Given the description of an element on the screen output the (x, y) to click on. 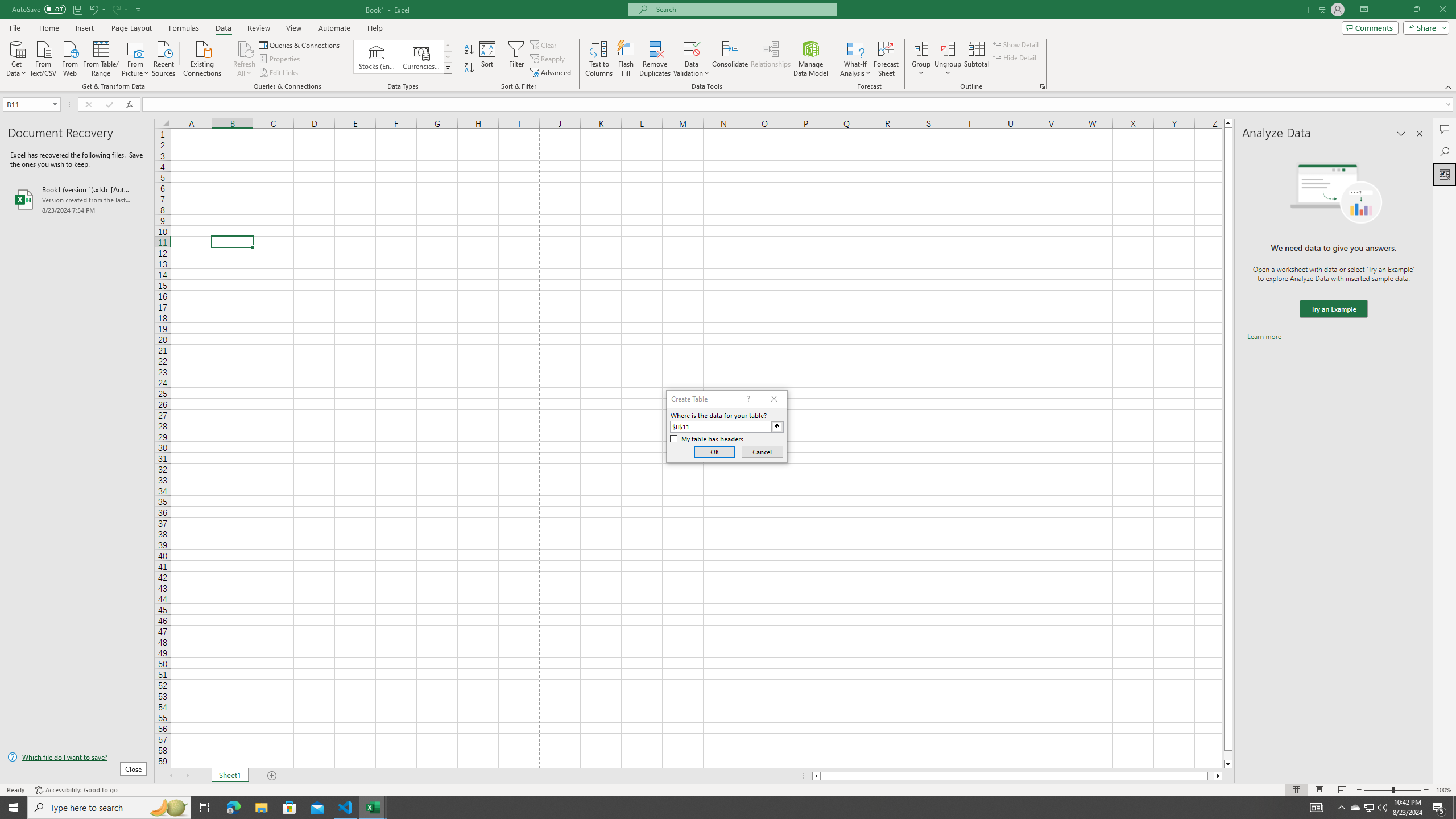
Close pane (1419, 133)
AutoSave (38, 9)
Row up (448, 45)
Microsoft search (742, 9)
Group... (921, 48)
Class: NetUIImage (447, 68)
Home (48, 28)
Add Sheet (272, 775)
Properties (280, 58)
Forecast Sheet (885, 58)
Ungroup... (947, 48)
Formulas (184, 28)
What-If Analysis (855, 58)
